Given the description of an element on the screen output the (x, y) to click on. 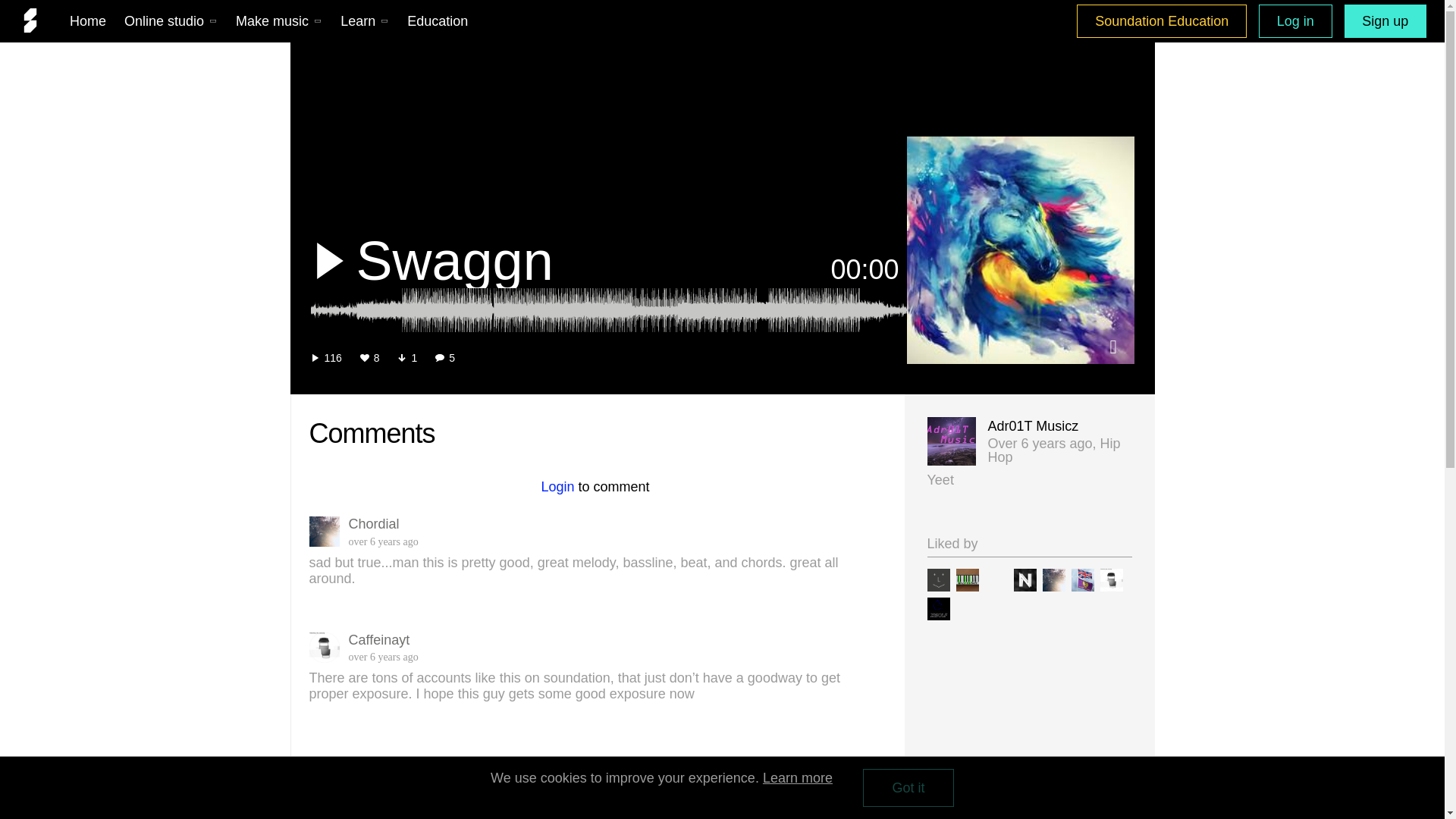
Online studio (171, 20)
Make music (279, 20)
Chordial (1053, 579)
Swaggn (578, 260)
XWolf EDM  (937, 608)
ChordsBoy (966, 579)
beepbeepbeepbeepb (937, 579)
. (995, 579)
PutridPlanet (1081, 579)
Natro (1024, 579)
Home (88, 20)
Caffeinayt (1110, 579)
